Given the description of an element on the screen output the (x, y) to click on. 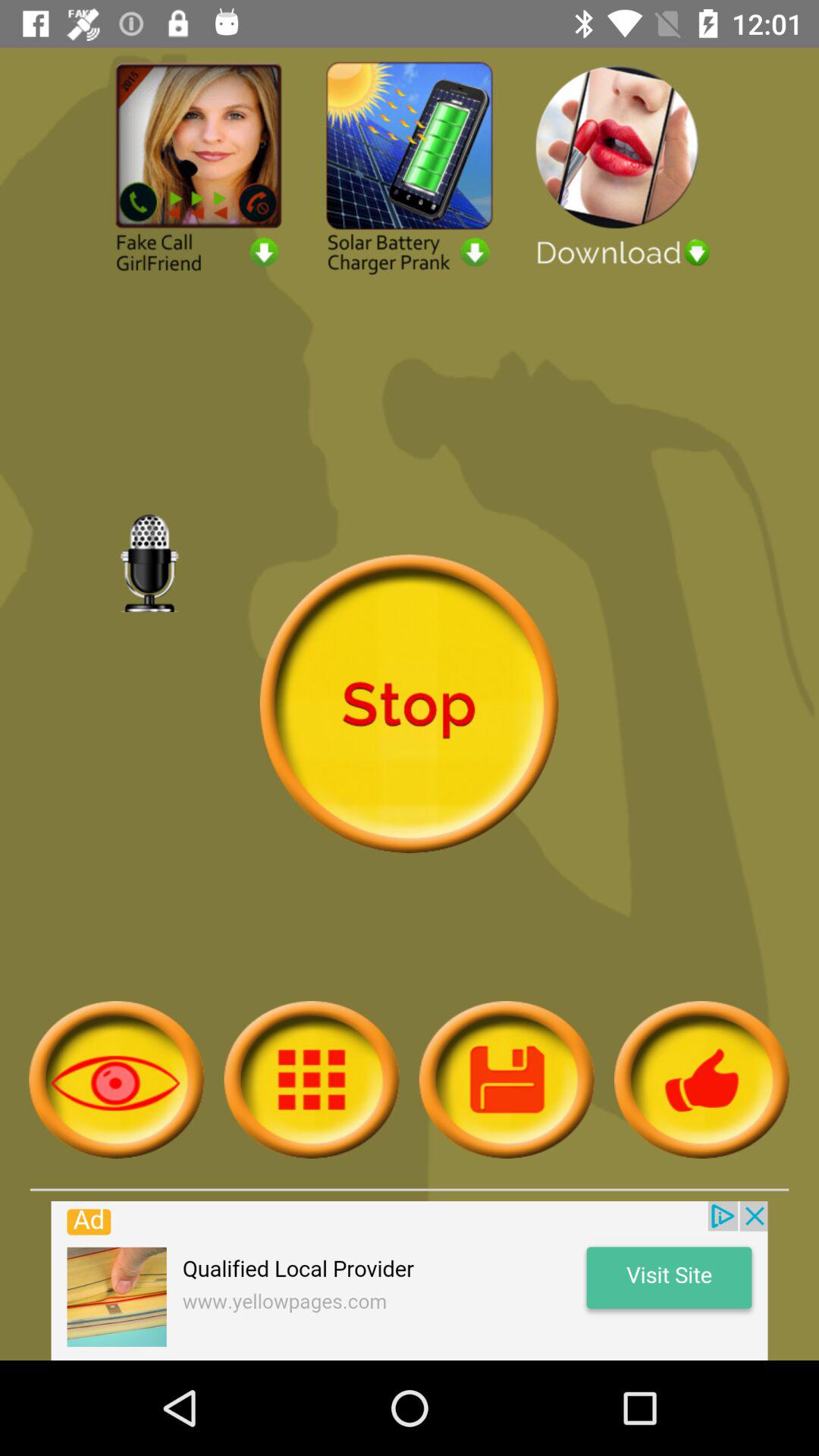
solar battery charger prank (409, 166)
